Given the description of an element on the screen output the (x, y) to click on. 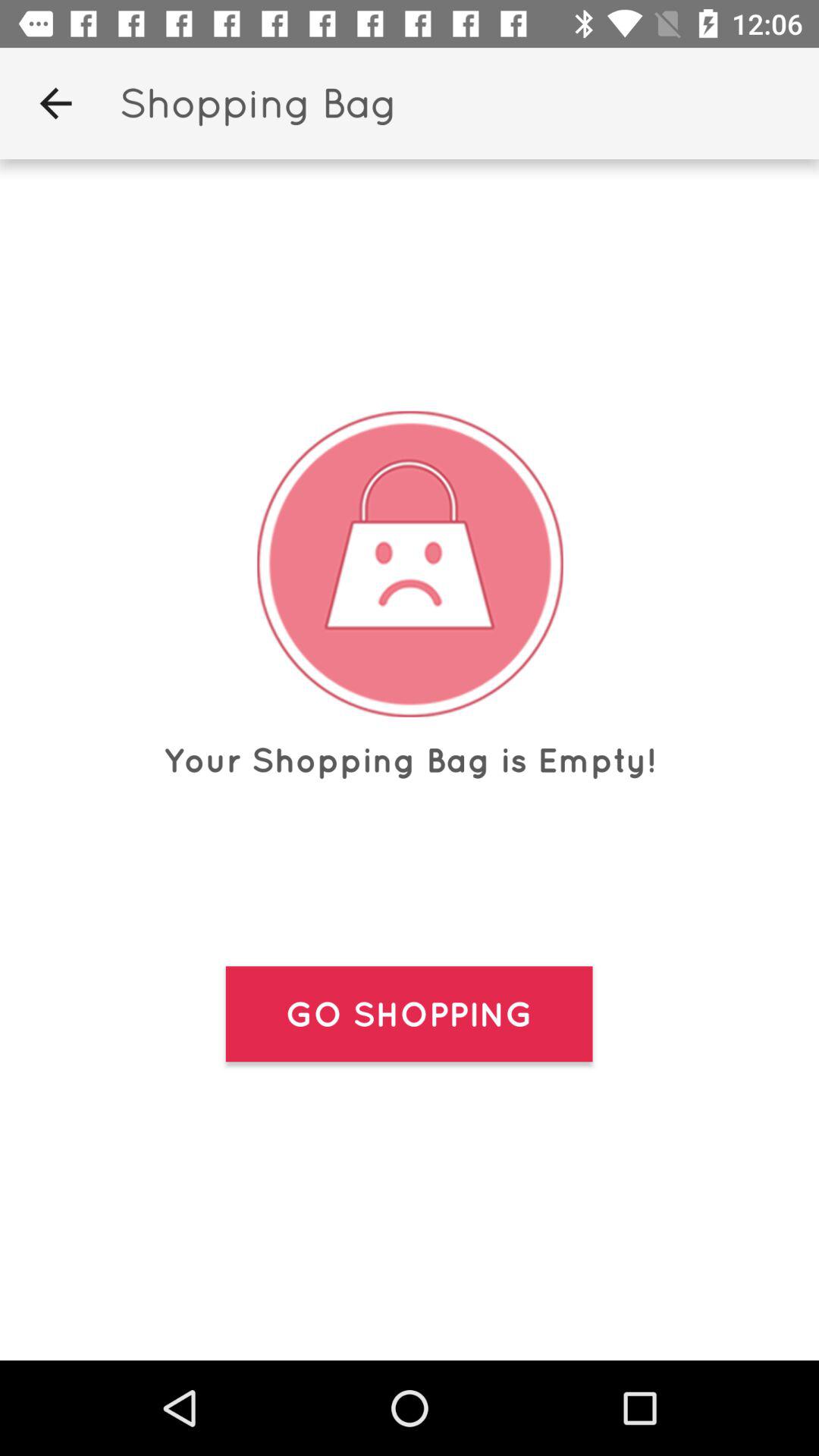
turn on the icon next to the shopping bag (55, 103)
